Given the description of an element on the screen output the (x, y) to click on. 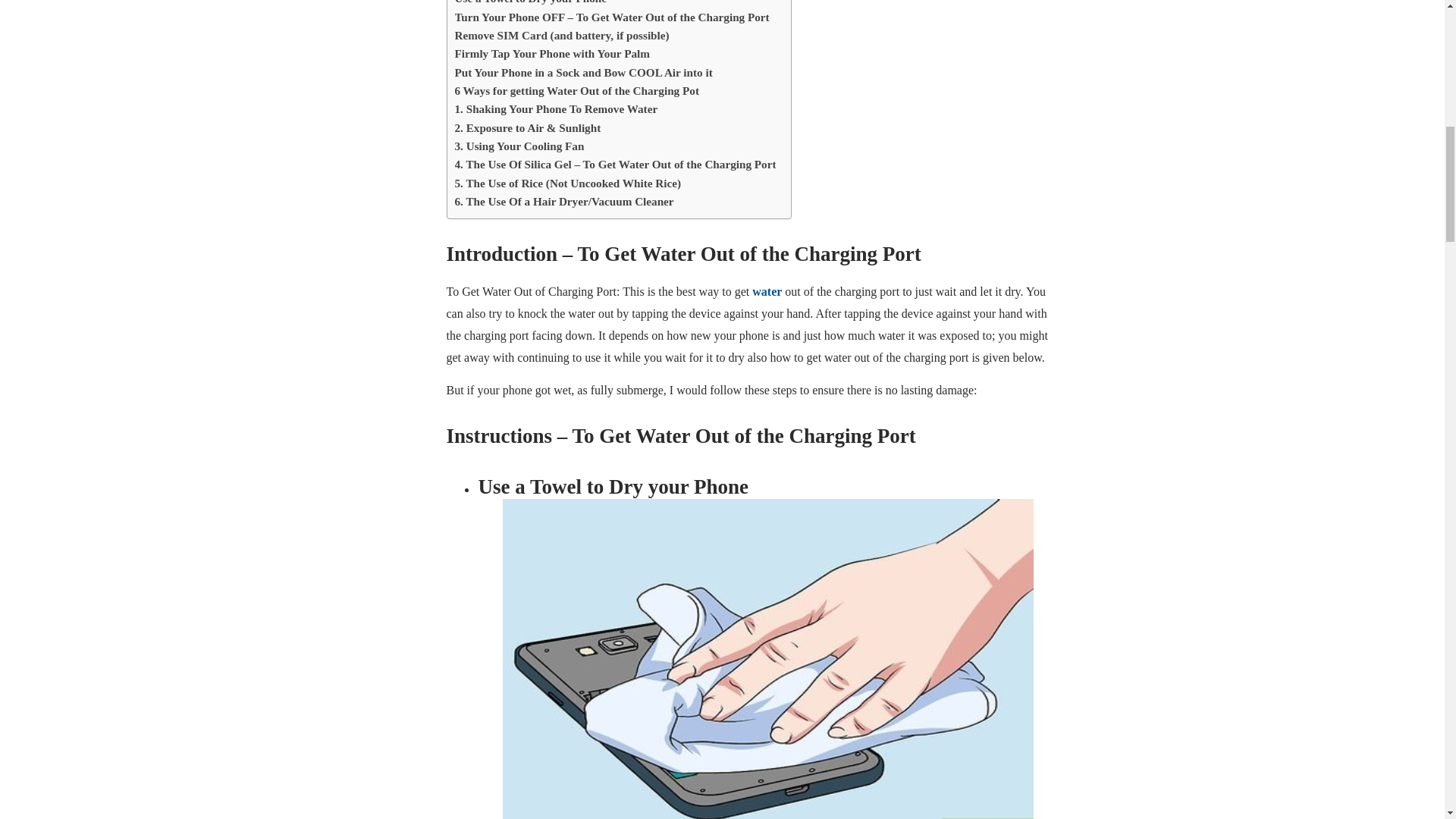
3. Using Your Cooling Fan (519, 146)
Put Your Phone in a Sock and Bow COOL Air into it (583, 72)
Firmly Tap Your Phone with Your Palm (551, 54)
1. Shaking Your Phone To Remove Water (556, 108)
Use a Towel to Dry your Phone  (530, 3)
6 Ways for getting Water Out of the Charging Pot (576, 90)
